Given the description of an element on the screen output the (x, y) to click on. 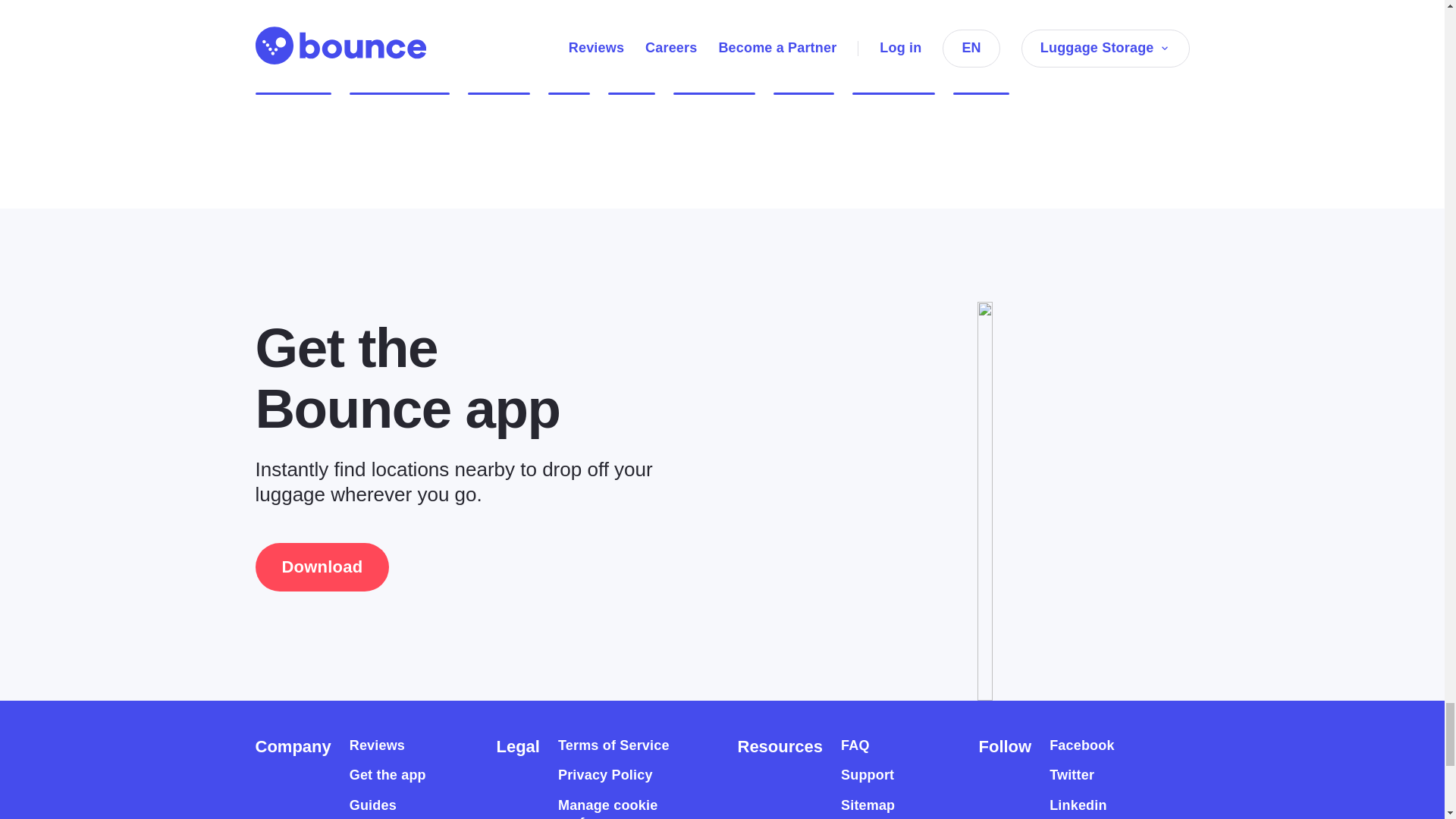
Guides (372, 805)
Get the app (387, 774)
Rome (631, 80)
Download (321, 566)
Sydney (803, 80)
Paris (568, 80)
Lisbon (981, 80)
Barcelona (713, 80)
London (498, 80)
Reviews (376, 745)
Los Angeles (398, 80)
New York (292, 80)
Singapore (893, 80)
